Given the description of an element on the screen output the (x, y) to click on. 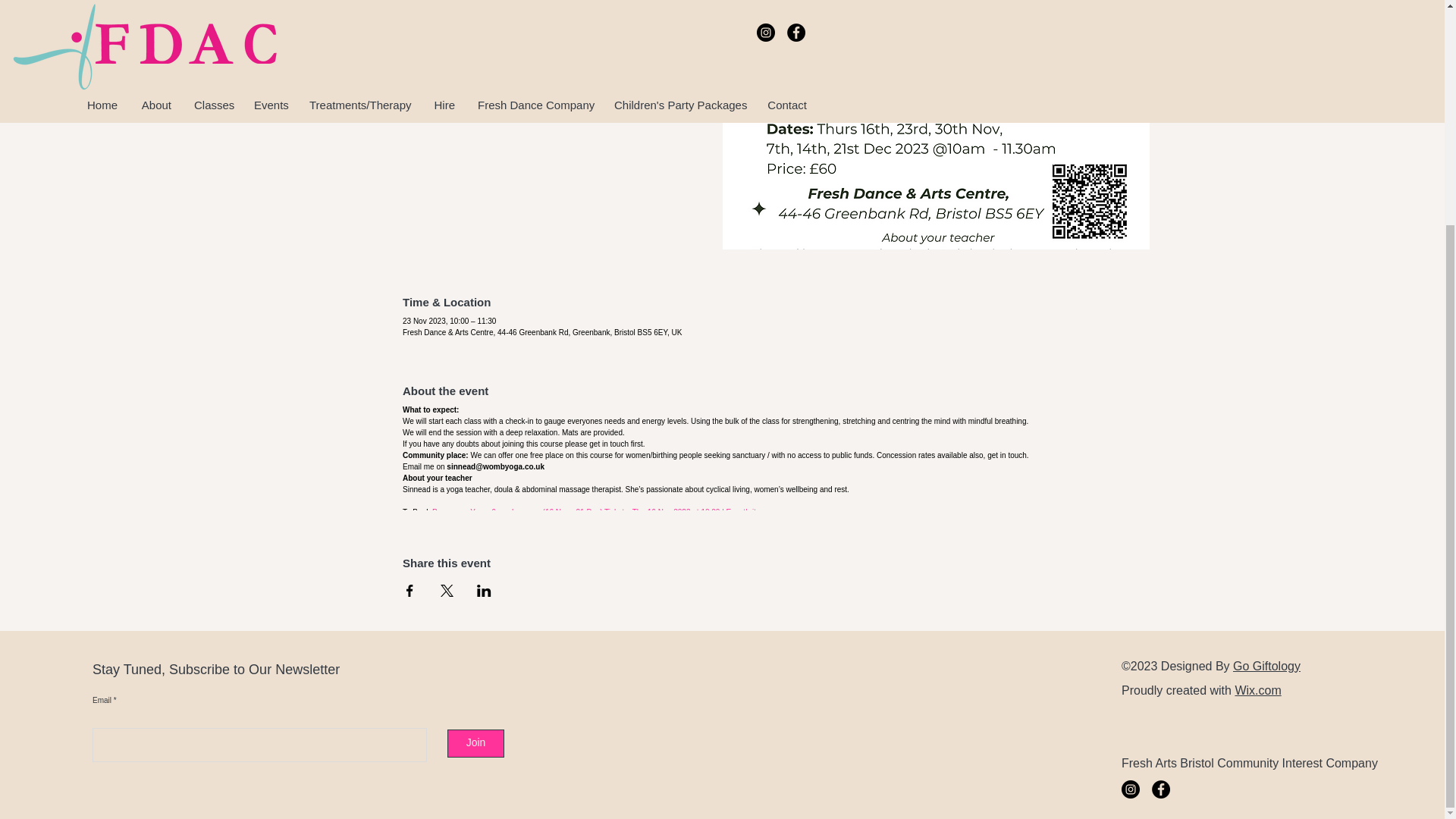
Go Giftology (1266, 666)
See other events (585, 83)
Join (474, 743)
Wix.com (1257, 689)
